Given the description of an element on the screen output the (x, y) to click on. 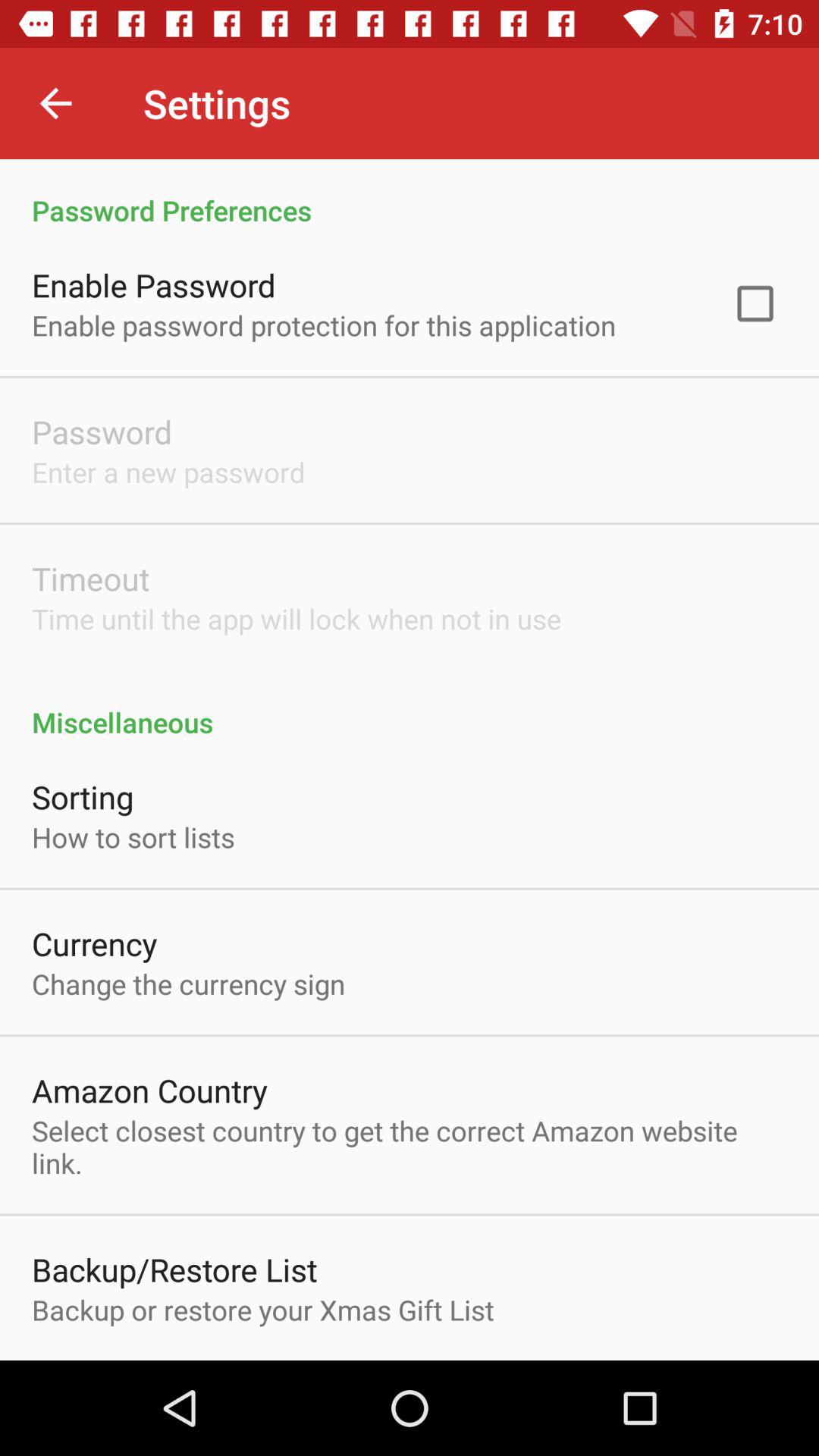
scroll to the how to sort (132, 836)
